Given the description of an element on the screen output the (x, y) to click on. 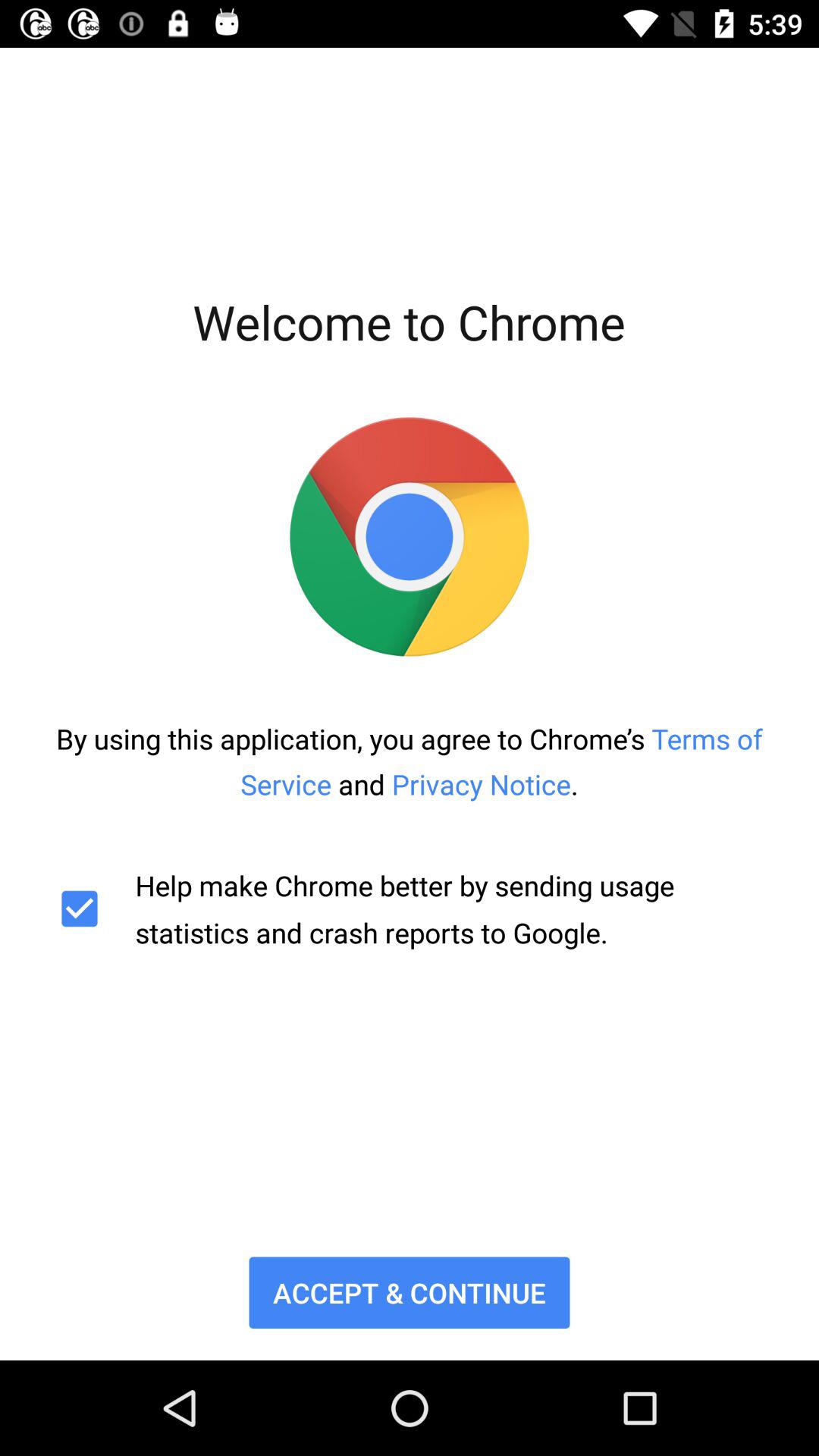
select the icon below by using this icon (409, 908)
